Given the description of an element on the screen output the (x, y) to click on. 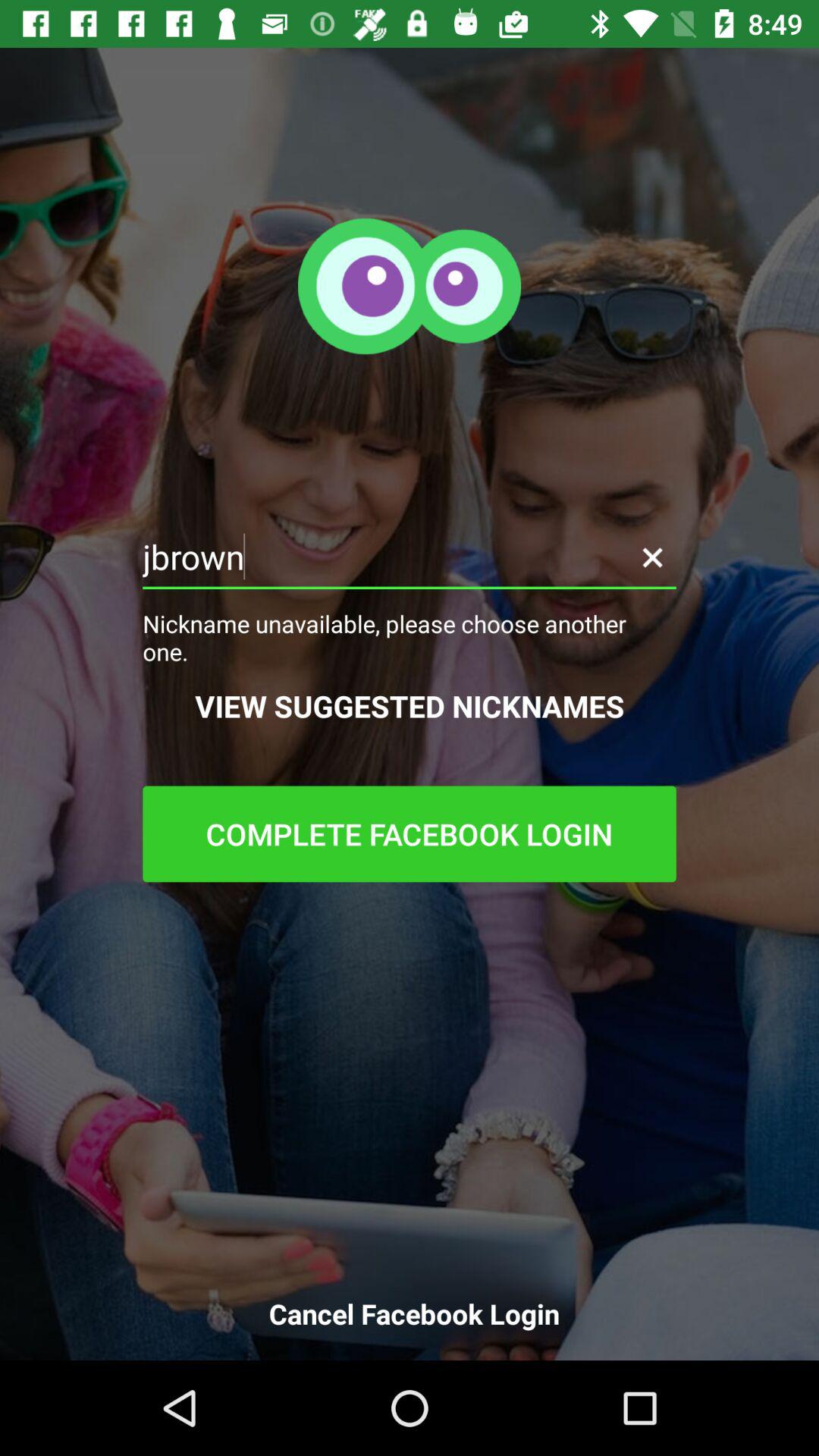
choose jbrown item (409, 557)
